Given the description of an element on the screen output the (x, y) to click on. 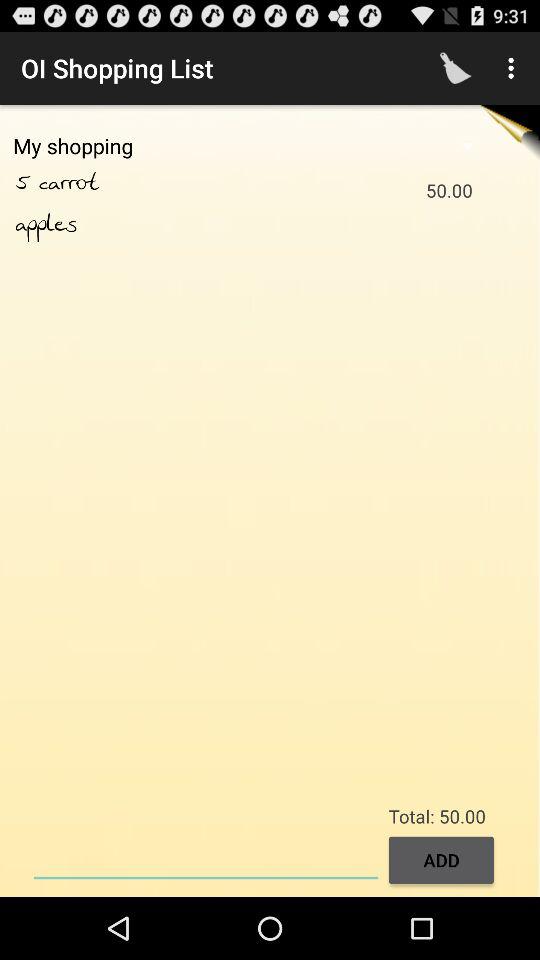
open 5  item (27, 183)
